Given the description of an element on the screen output the (x, y) to click on. 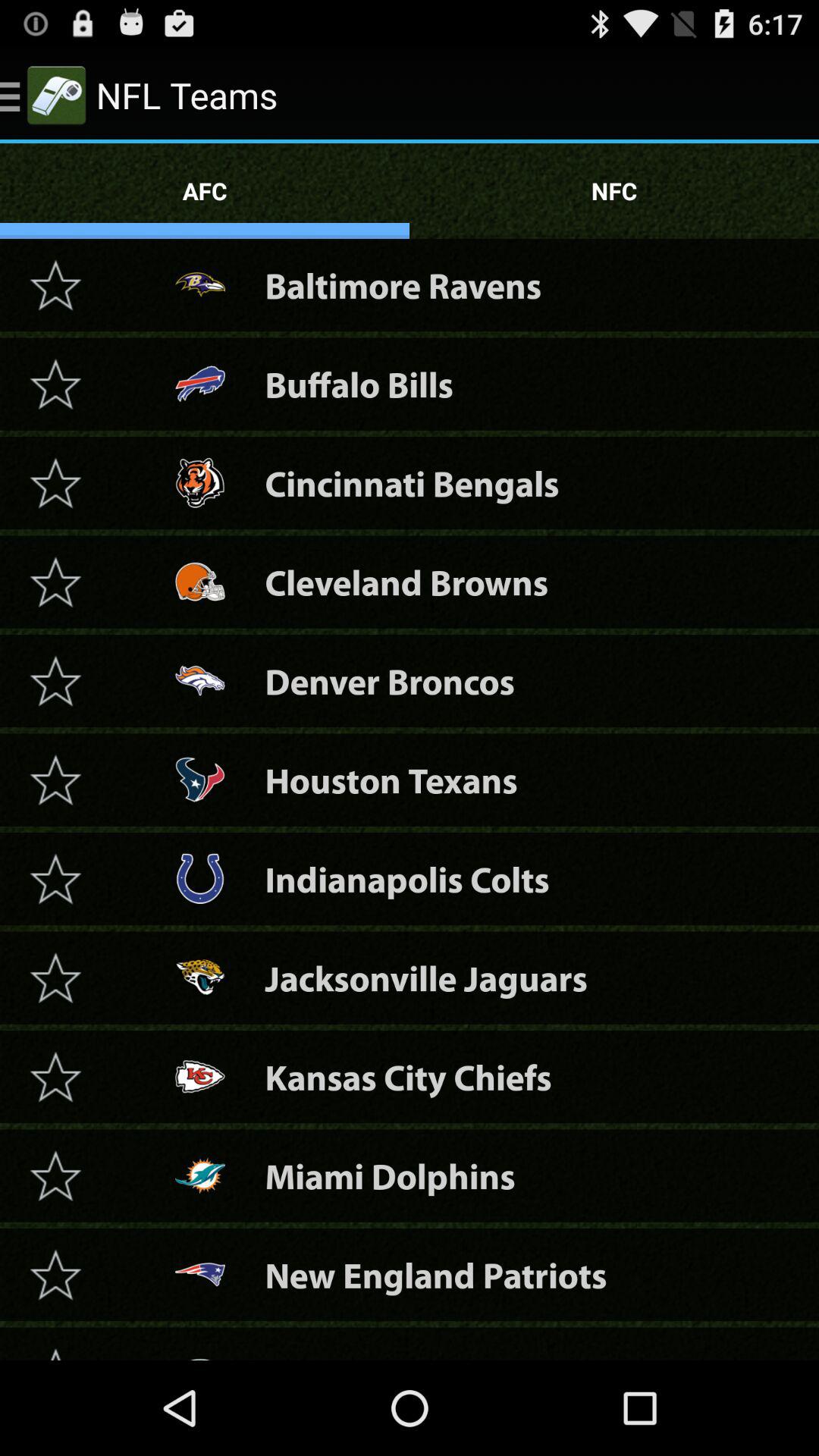
open icon below the kansas city chiefs icon (390, 1175)
